Given the description of an element on the screen output the (x, y) to click on. 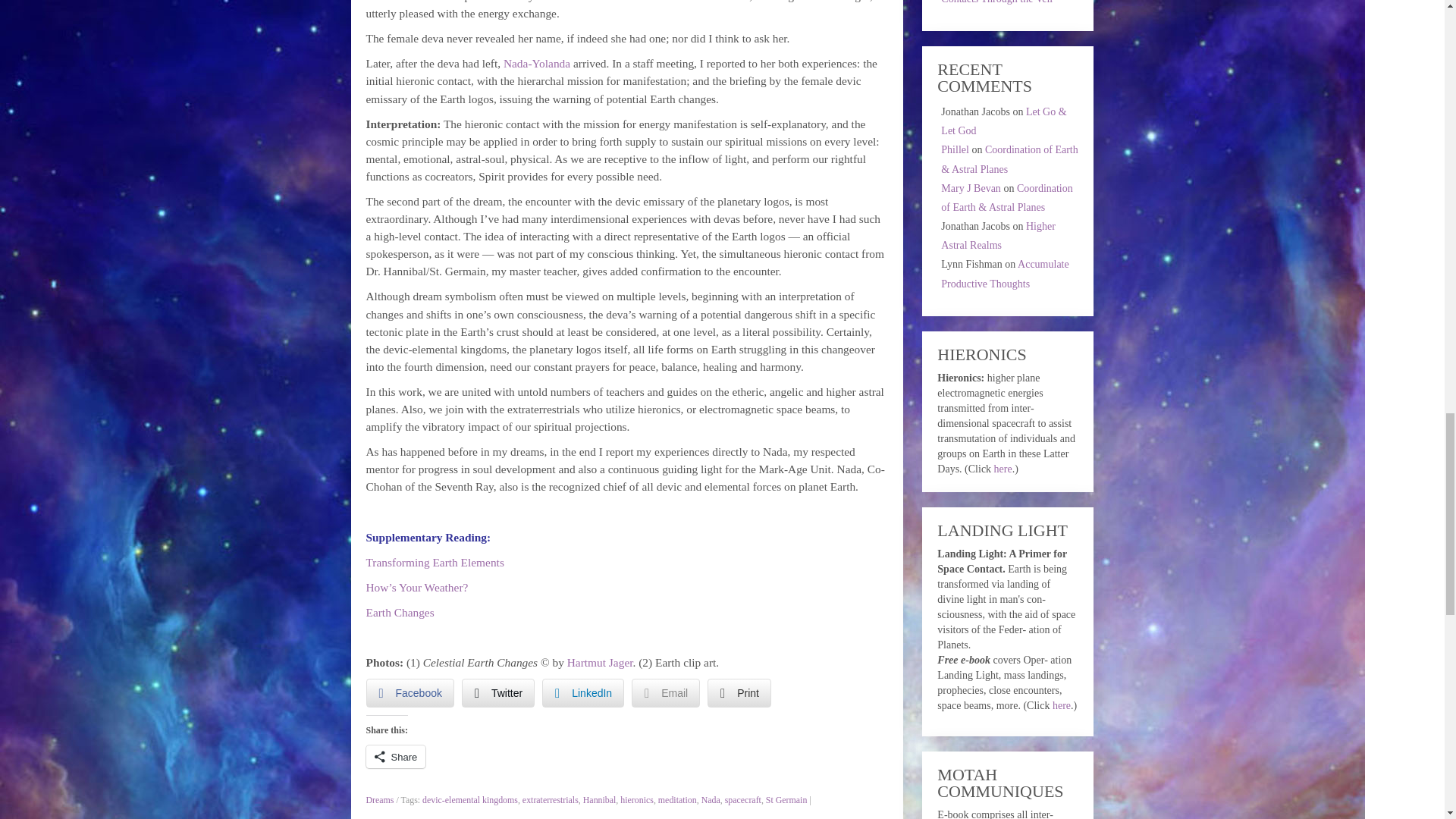
hieronics (636, 799)
Transforming Earth Elements (434, 562)
Print (739, 692)
Earth Changes (399, 612)
devic-elemental kingdoms (470, 799)
Nada-Yolanda (536, 62)
St Germain (786, 799)
extraterrestrials (550, 799)
Share (395, 756)
meditation (677, 799)
